Given the description of an element on the screen output the (x, y) to click on. 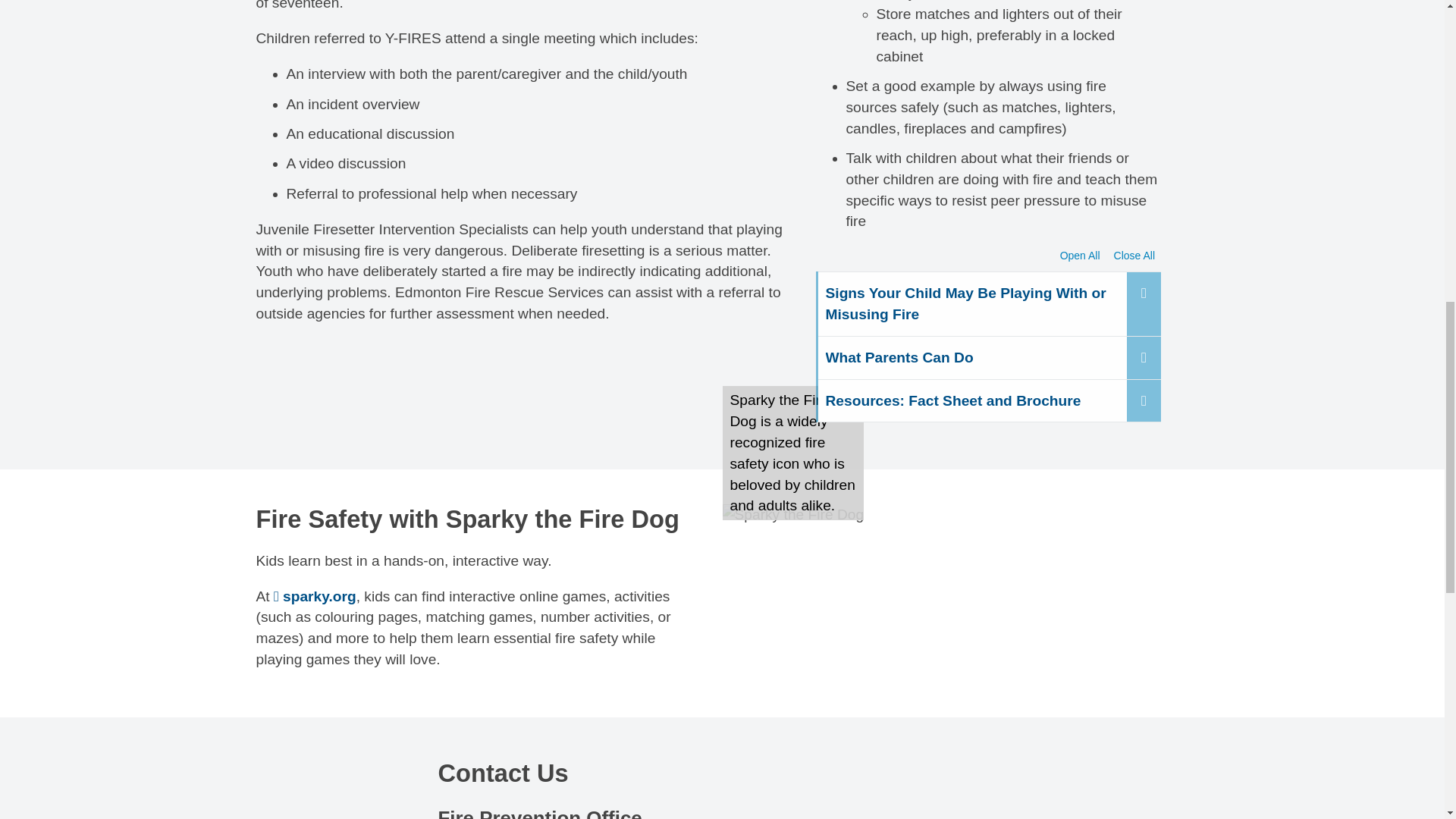
Resources: Fact Sheet and Brochure (988, 400)
sparky.org (314, 596)
Close All (1133, 255)
What Parents Can Do (988, 357)
Open All (1080, 255)
Signs Your Child May Be Playing With or Misusing Fire (988, 303)
